Given the description of an element on the screen output the (x, y) to click on. 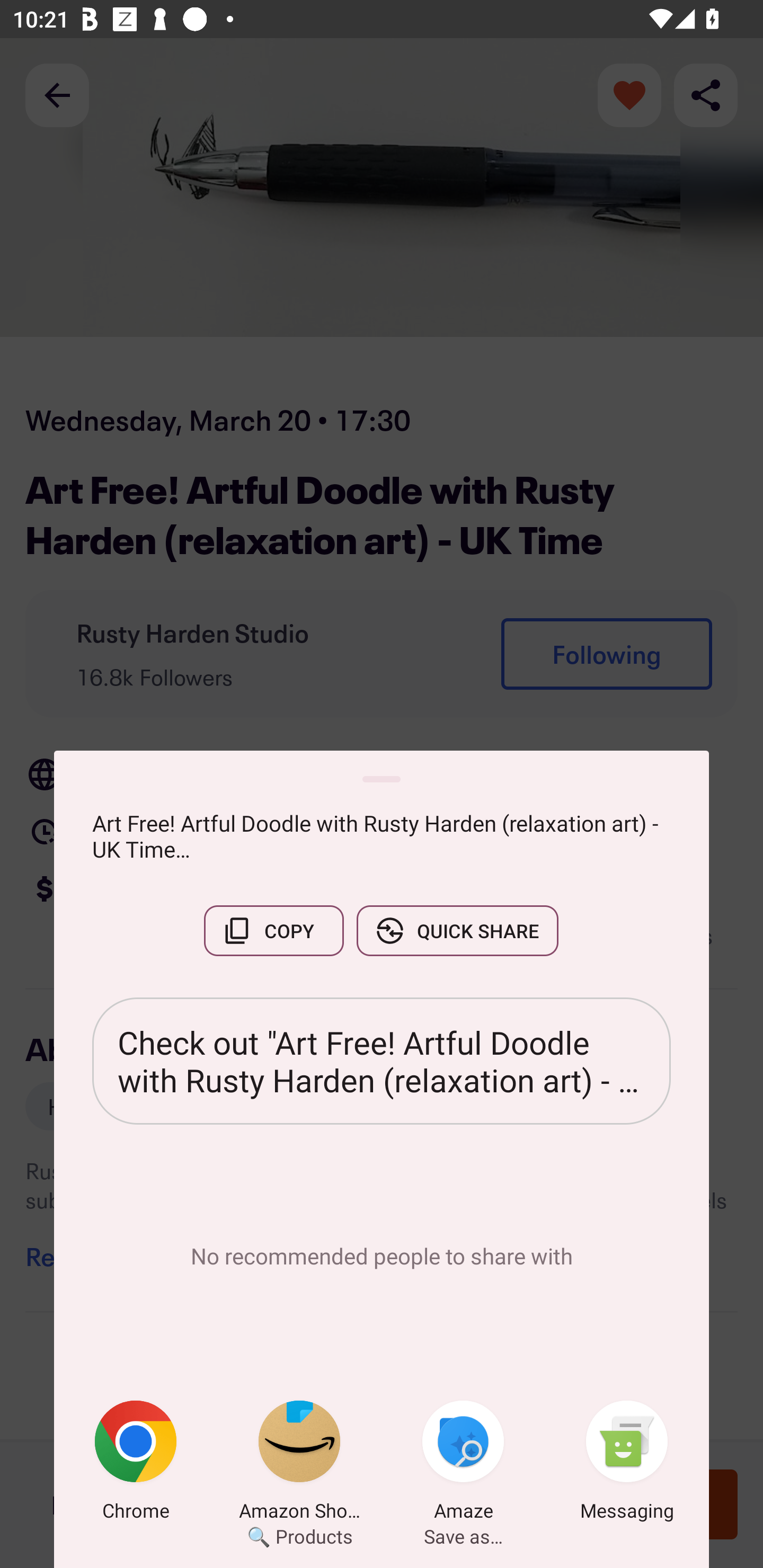
COPY (273, 930)
QUICK SHARE (457, 930)
Chrome (135, 1463)
Amazon Shopping 🔍 Products (299, 1463)
Amaze Save as… (463, 1463)
Messaging (626, 1463)
